Given the description of an element on the screen output the (x, y) to click on. 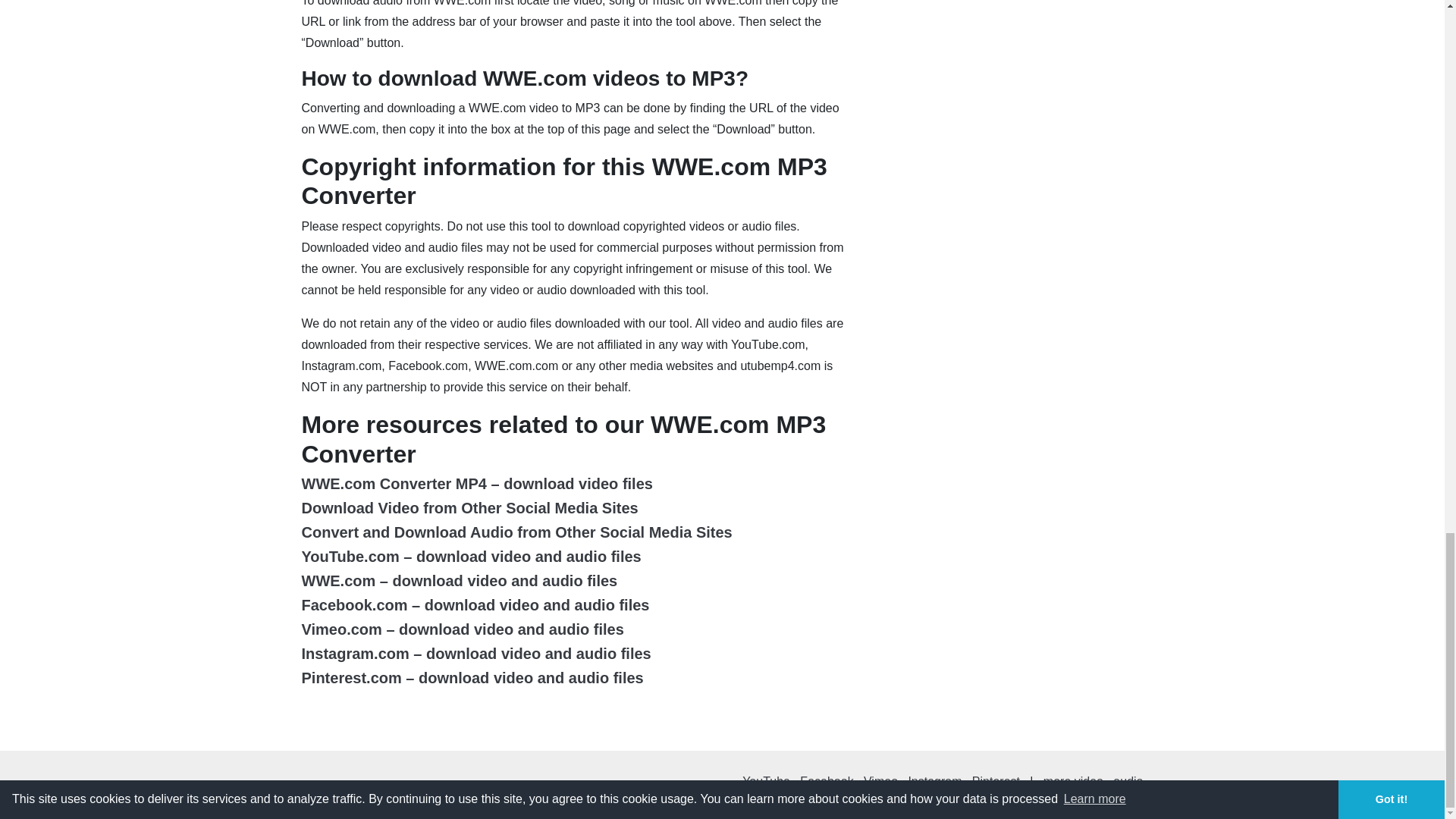
vimeo converter mp4 (880, 780)
audio (1127, 780)
YouTube (766, 780)
Download Video from Other Social Media Sites (470, 507)
video converter mp4 (1073, 780)
online video converter mp3 (1127, 780)
Vimeo (880, 780)
Instagram (933, 780)
Convert and Download Audio from Other Social Media Sites (516, 532)
youtube converter mp4 (766, 780)
Facebook (826, 780)
more video (1073, 780)
Pinterest (996, 780)
facebook converter mp4 (826, 780)
instagram converter mp4 (933, 780)
